Given the description of an element on the screen output the (x, y) to click on. 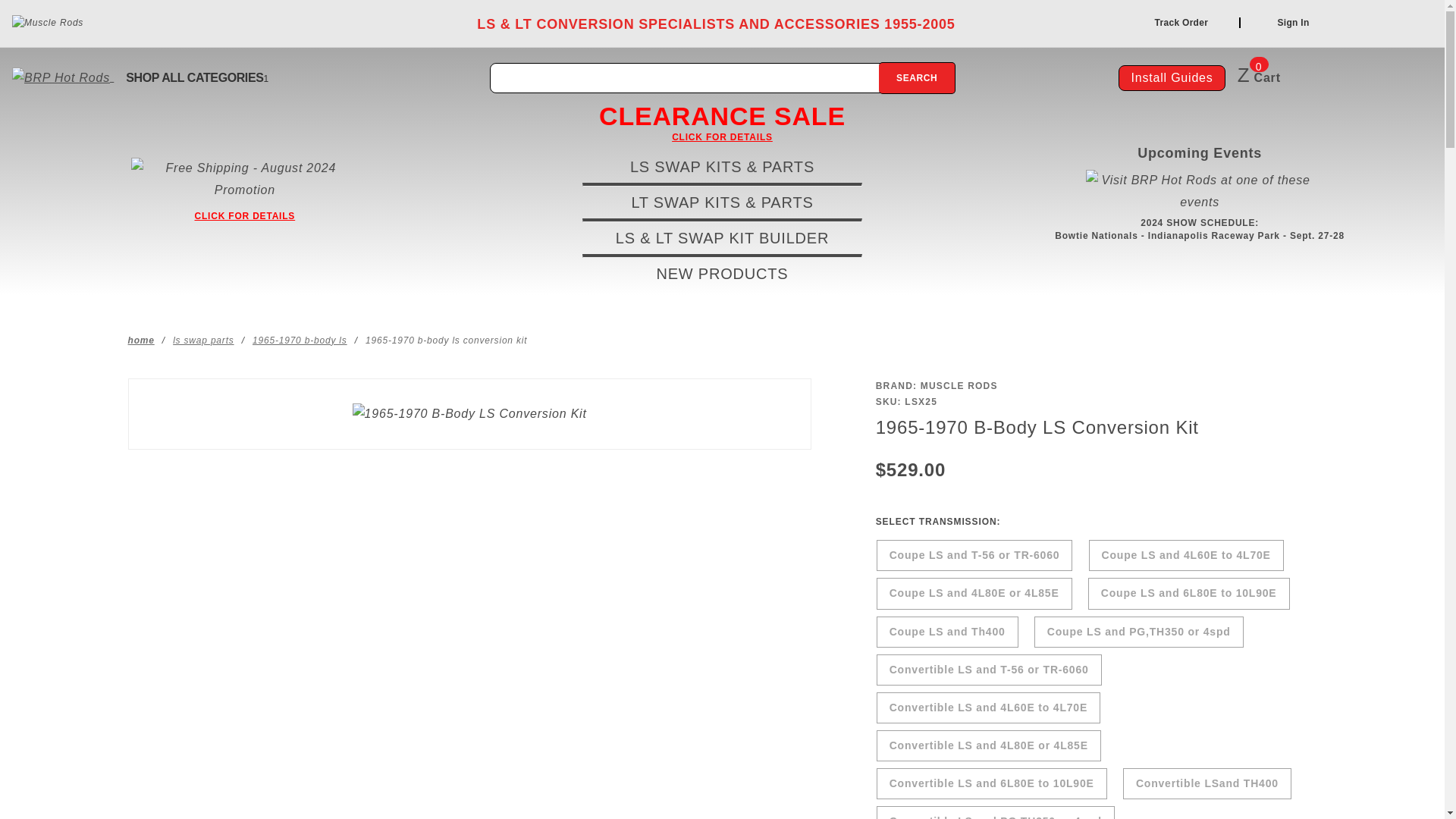
Install Guides (1171, 77)
Convertible LS and 6L80E to 10L90E (992, 783)
1965-1970 B-Body LS Conversion Kit (469, 414)
Select Transmission: (1096, 522)
1965-1970 B-Body LS Conversion Kit (446, 340)
Coupe LS and 6L80E to 10L90E (1188, 593)
Coupe LS and 4L60E to 4L70E (1185, 554)
